Given the description of an element on the screen output the (x, y) to click on. 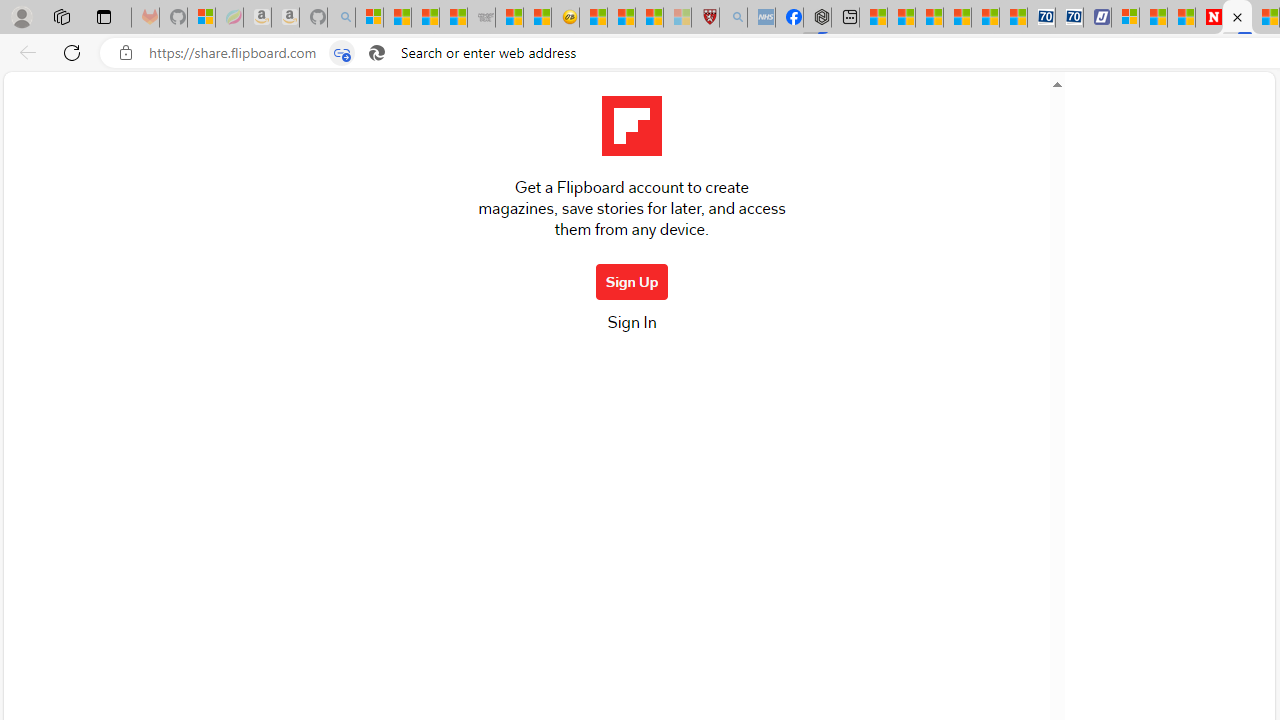
Stocks - MSN (453, 17)
Robert H. Shmerling, MD - Harvard Health (705, 17)
Nordace - Nordace Siena Is Not An Ordinary Backpack (816, 17)
Cheap Hotels - Save70.com (1069, 17)
New split screen (1236, 17)
